Given the description of an element on the screen output the (x, y) to click on. 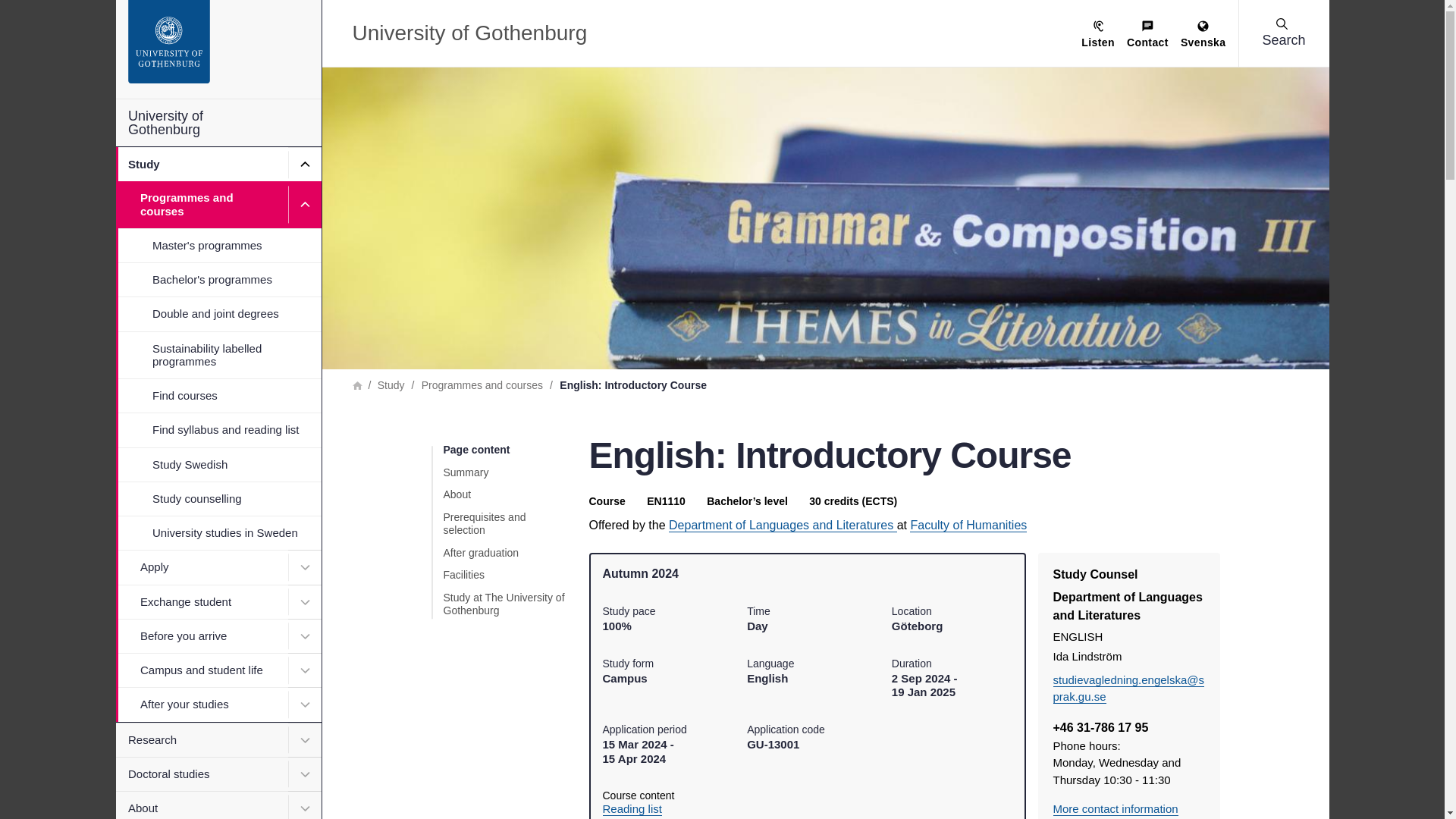
University studies in Sweden (217, 532)
Bachelor's programmes (217, 279)
Find courses (217, 395)
Find syllabus and reading list (217, 429)
Listen with ReadSpeaker (1098, 35)
Master's programmes (217, 245)
Submenu for Study (304, 163)
Double and joint degrees (217, 313)
Search function (105, 11)
Programmes and courses (217, 204)
